Given the description of an element on the screen output the (x, y) to click on. 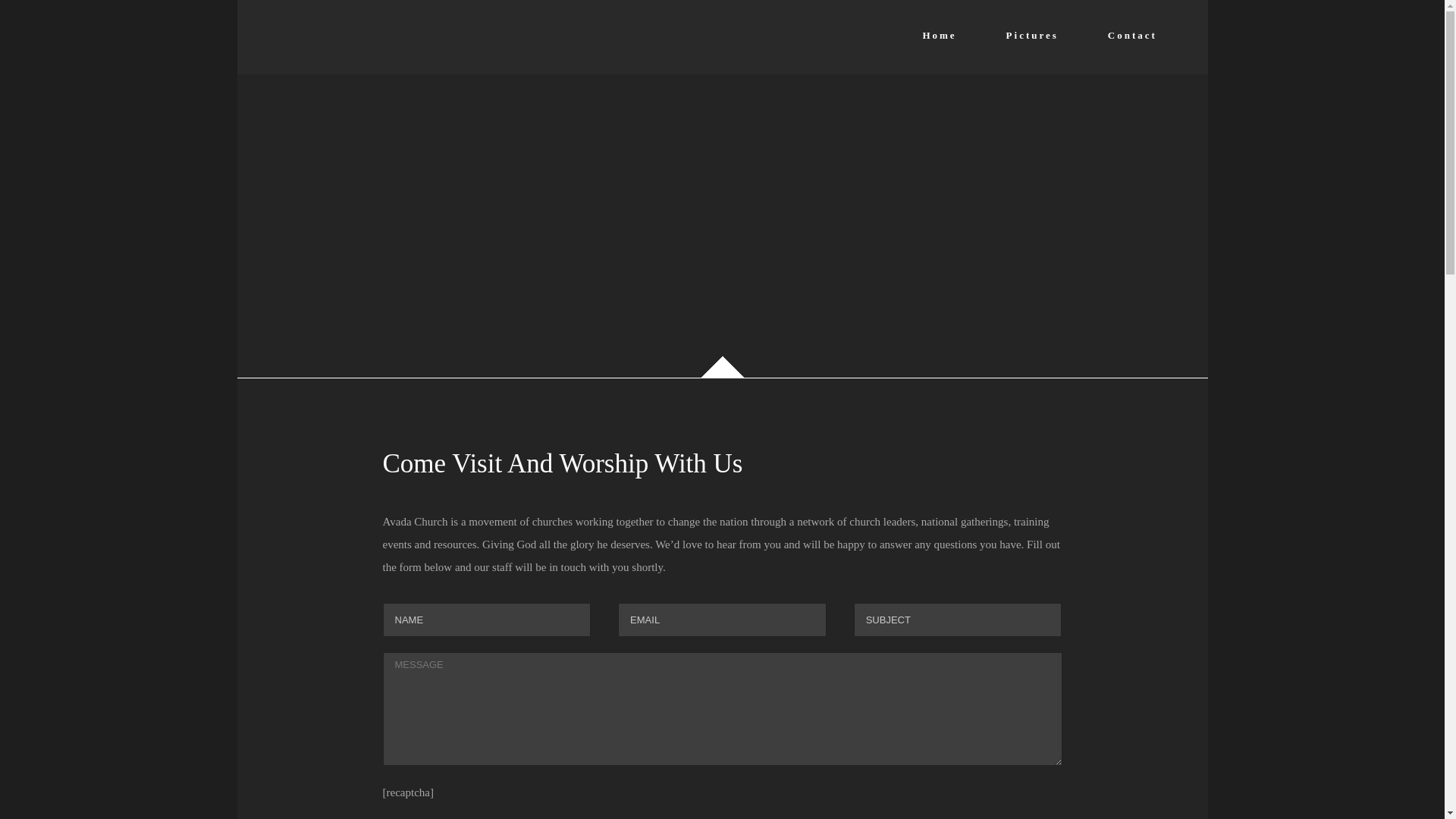
Home (938, 35)
Pictures (1032, 35)
Contact (1132, 35)
